Given the description of an element on the screen output the (x, y) to click on. 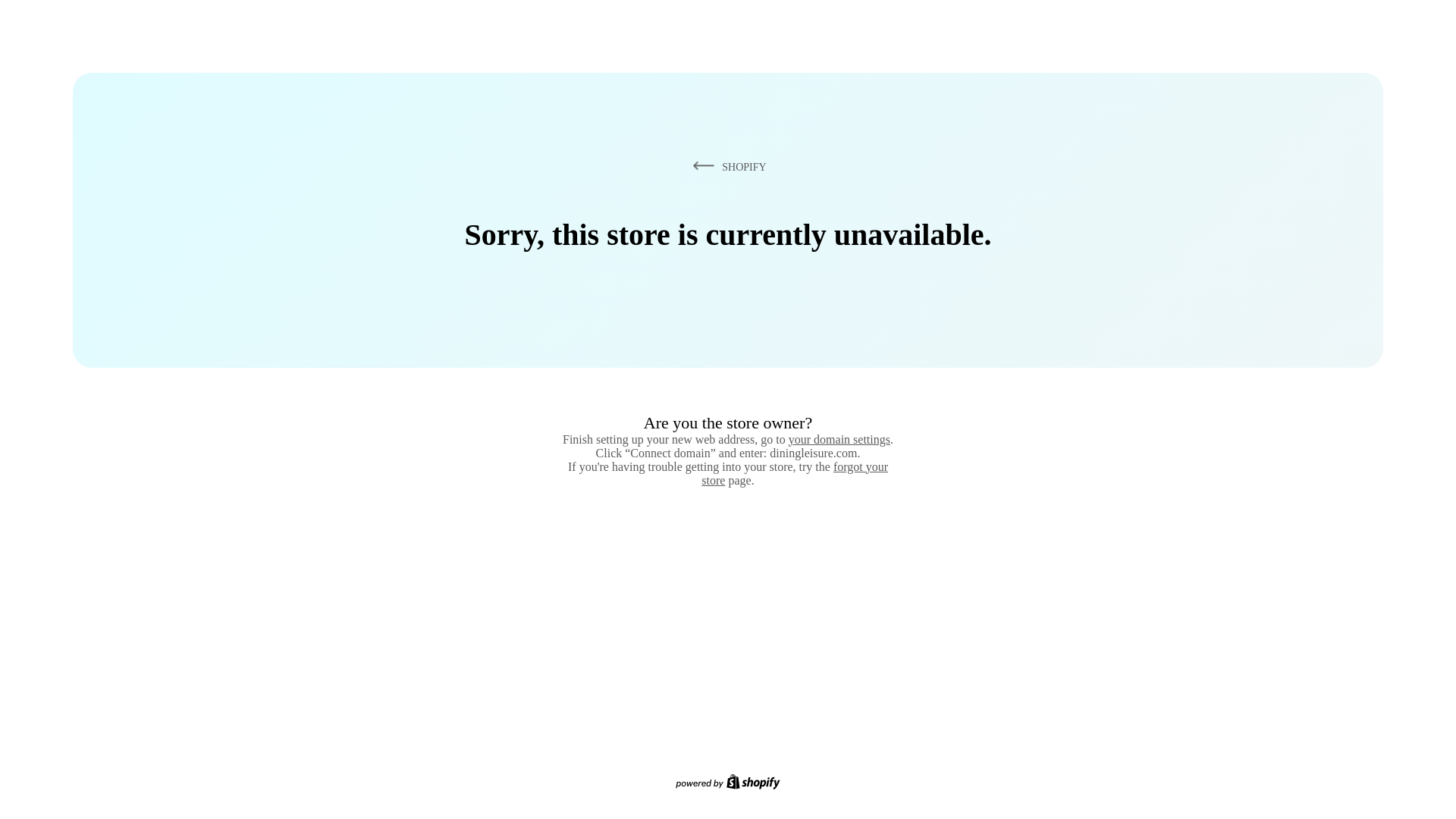
SHOPIFY (726, 166)
forgot your store (794, 473)
your domain settings (839, 439)
